Given the description of an element on the screen output the (x, y) to click on. 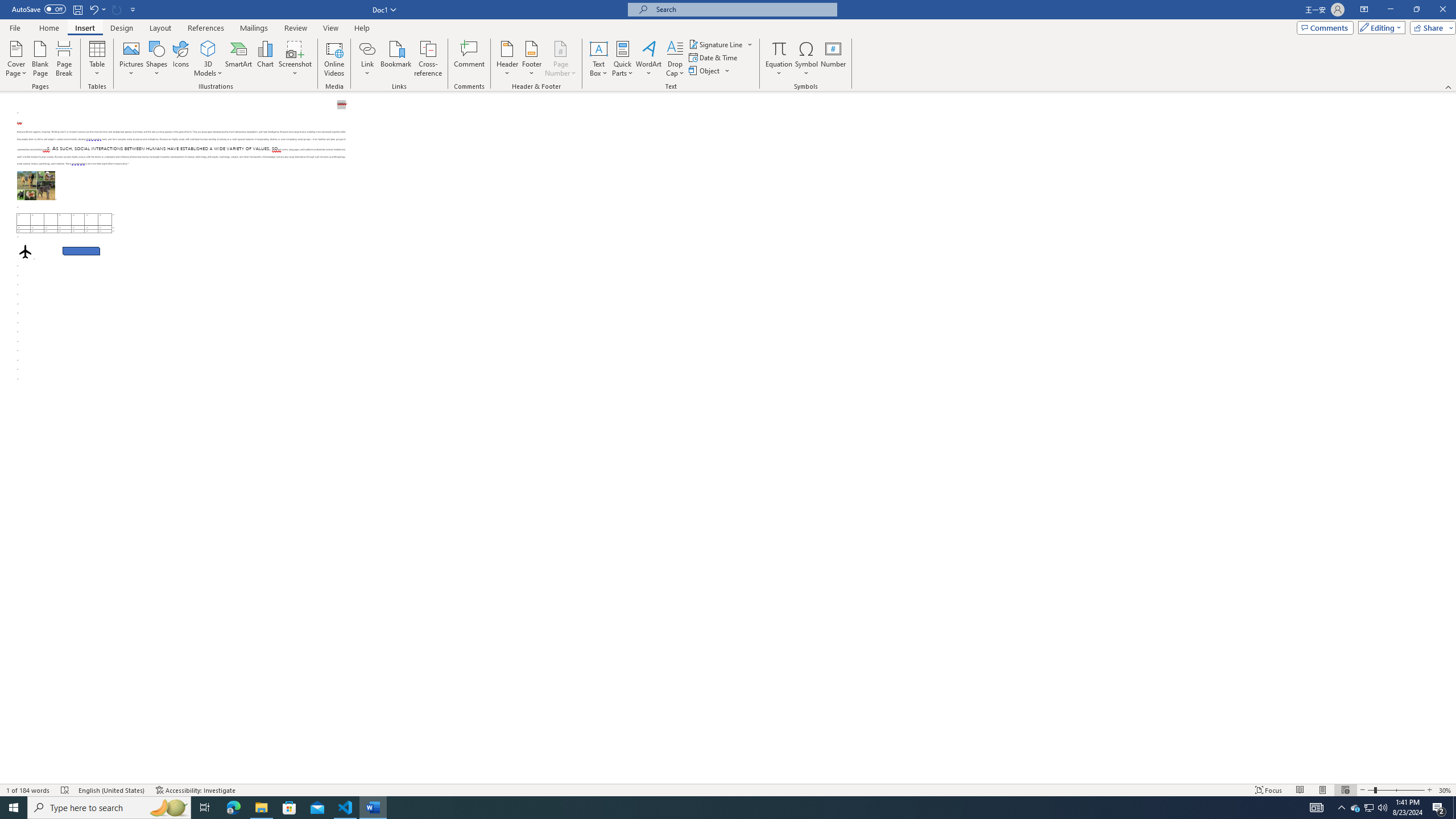
Design (122, 28)
Number... (833, 58)
Comment (469, 58)
Restore Down (1416, 9)
System (6, 6)
Object... (705, 69)
Web Layout (1344, 790)
Word Count 1 of 184 words (28, 790)
Morphological variation in six dogs (36, 185)
Read Mode (1299, 790)
Cover Page (16, 58)
Zoom In (1430, 790)
Save (77, 9)
Object... (709, 69)
